Given the description of an element on the screen output the (x, y) to click on. 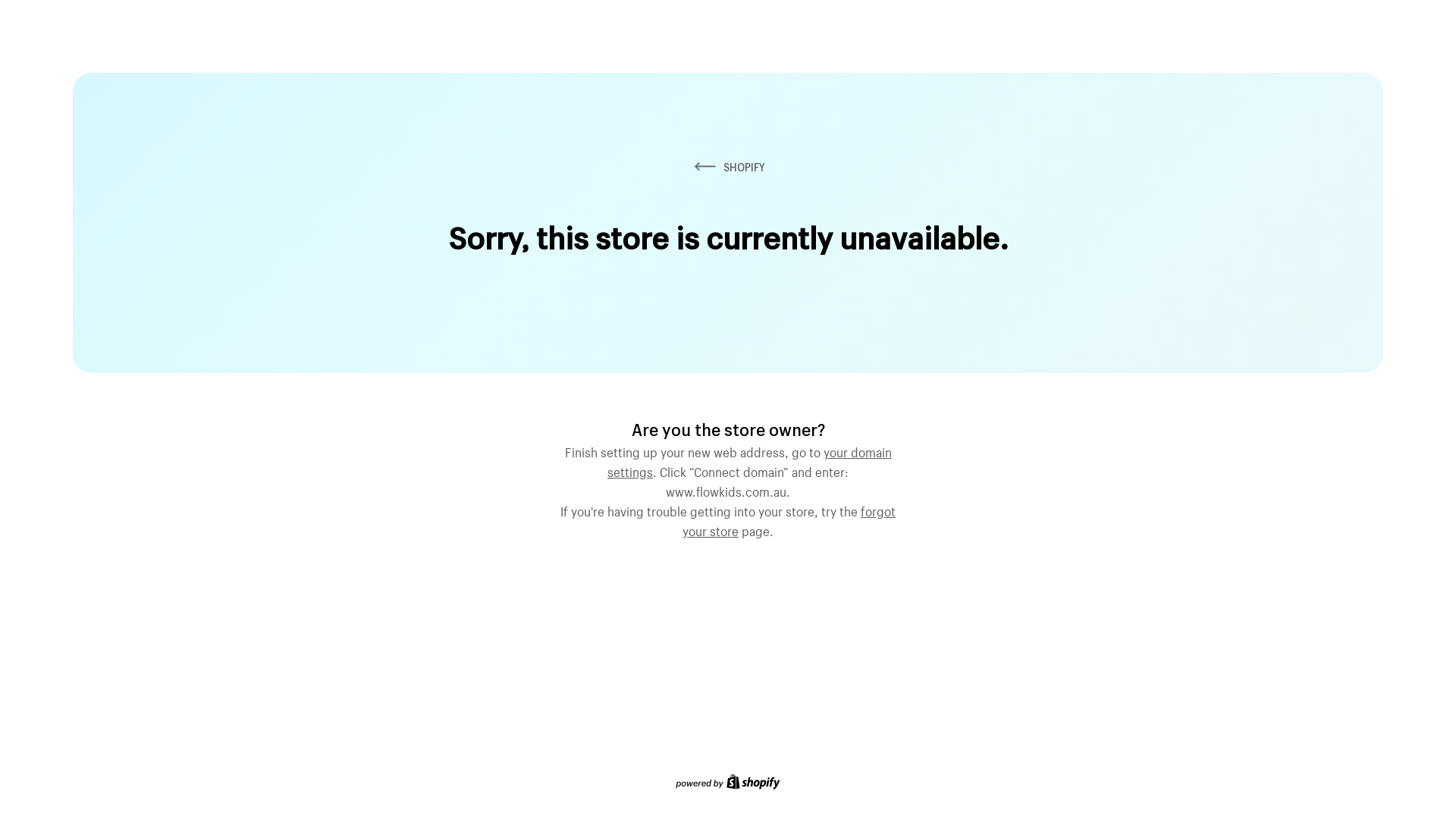
your domain settings Element type: text (749, 460)
forgot your store Element type: text (788, 519)
SHOPIFY Element type: text (727, 167)
